Given the description of an element on the screen output the (x, y) to click on. 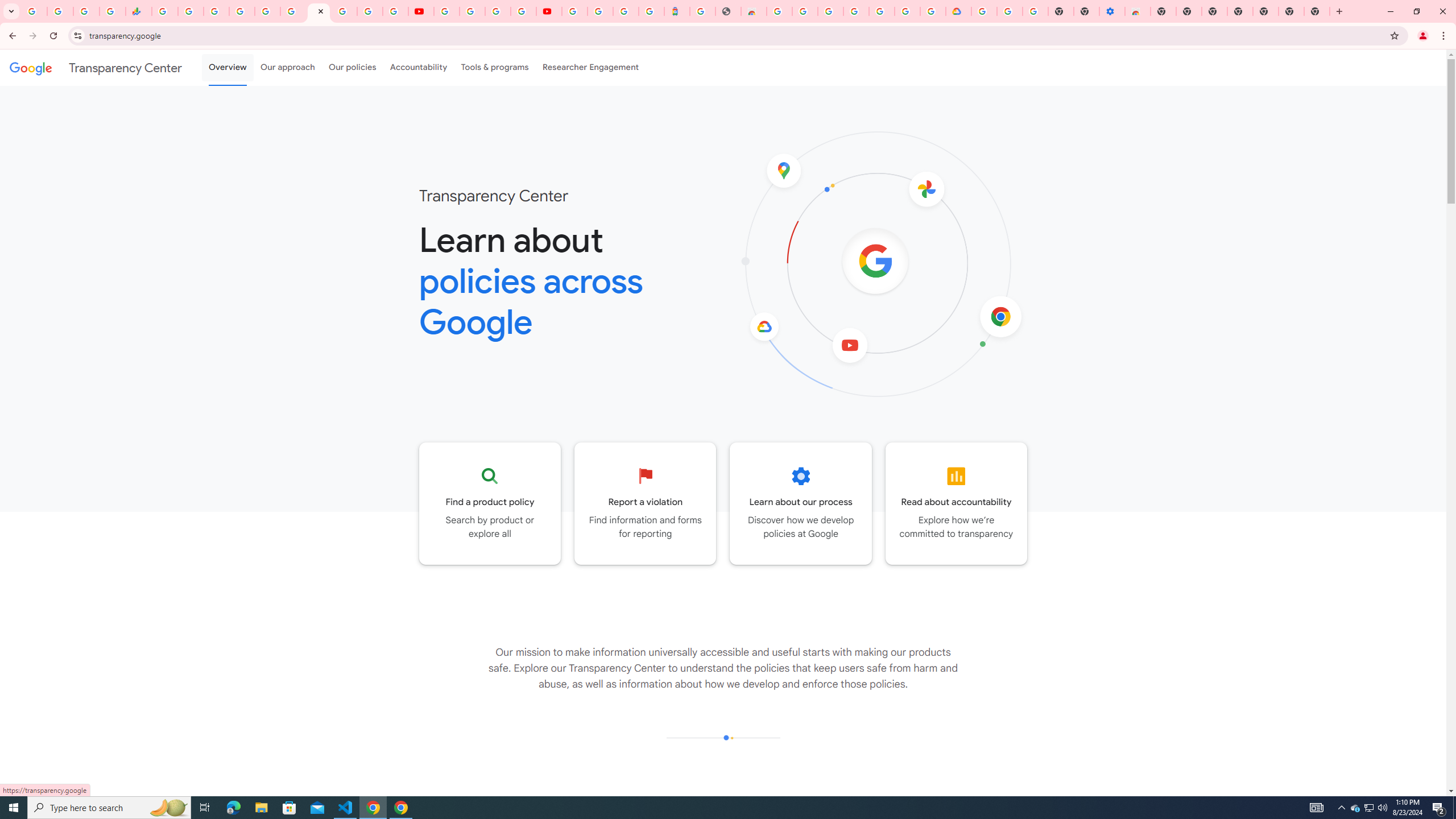
Create your Google Account (497, 11)
Google Account Help (472, 11)
You (1422, 35)
Go to the Our process page (800, 503)
Google Account Help (1009, 11)
Chrome (1445, 35)
Atour Hotel - Google hotels (676, 11)
